Given the description of an element on the screen output the (x, y) to click on. 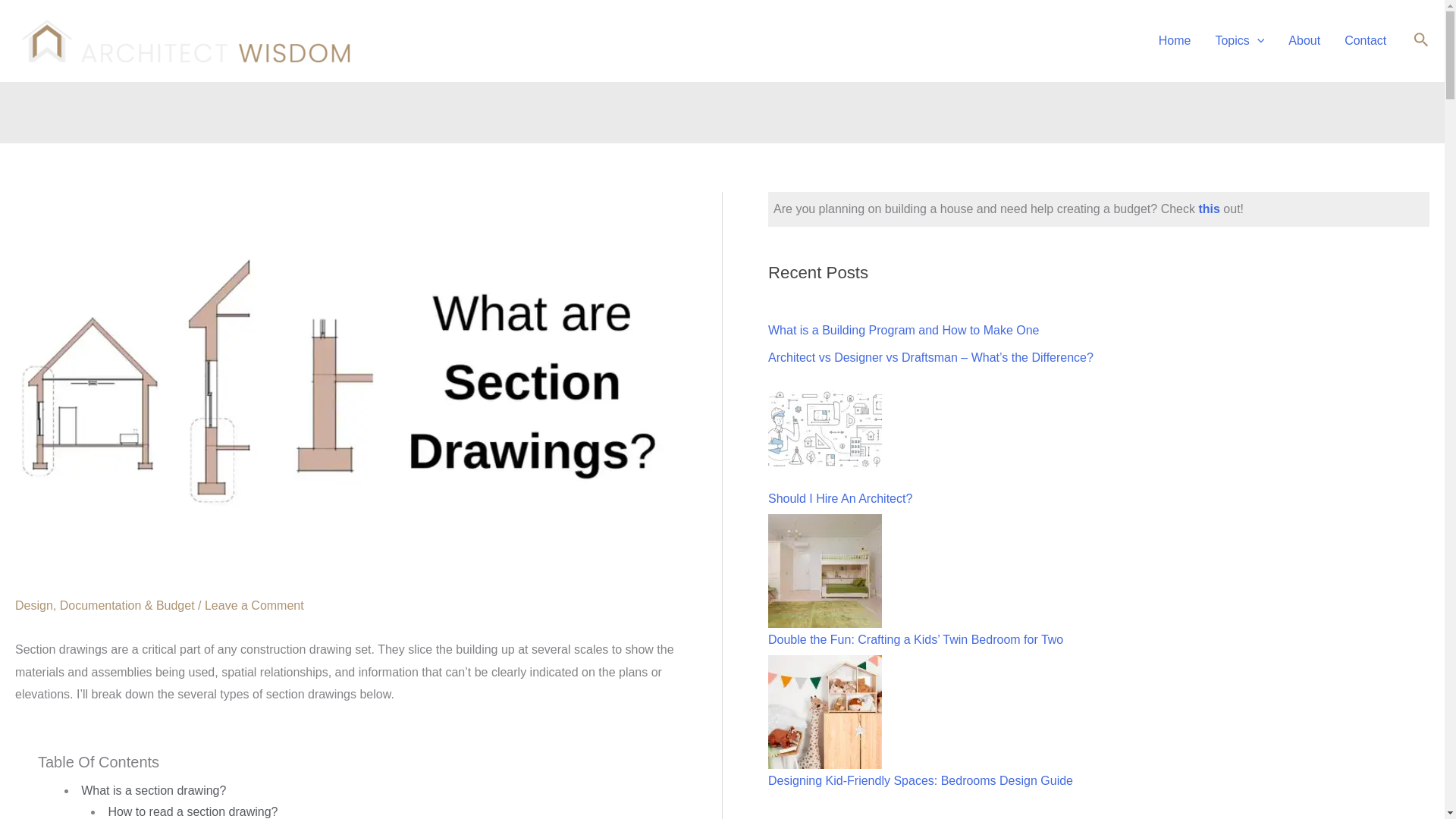
What is a section drawing? (153, 789)
Home (1175, 40)
About (1304, 40)
How to read a section drawing? (192, 811)
Contact (1364, 40)
Leave a Comment (254, 604)
Topics (1239, 40)
